Given the description of an element on the screen output the (x, y) to click on. 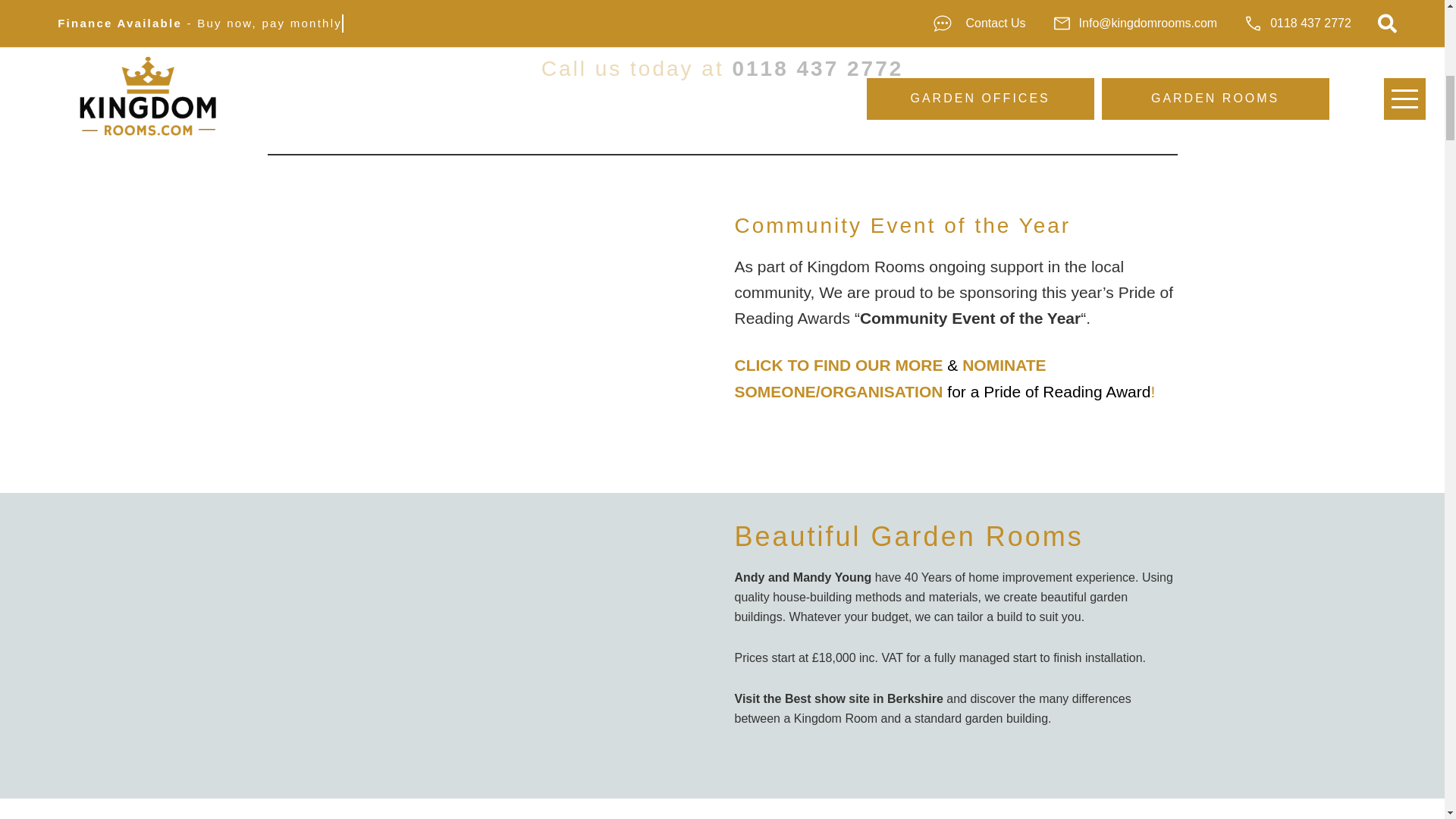
CONTACT US (722, 16)
0118 437 2772 (817, 68)
CLICK TO FIND OUR MORE (837, 364)
Andy and Mandy Young (801, 576)
Visit the Best show site in Berkshire (837, 698)
The future of garden buildings (488, 634)
